Given the description of an element on the screen output the (x, y) to click on. 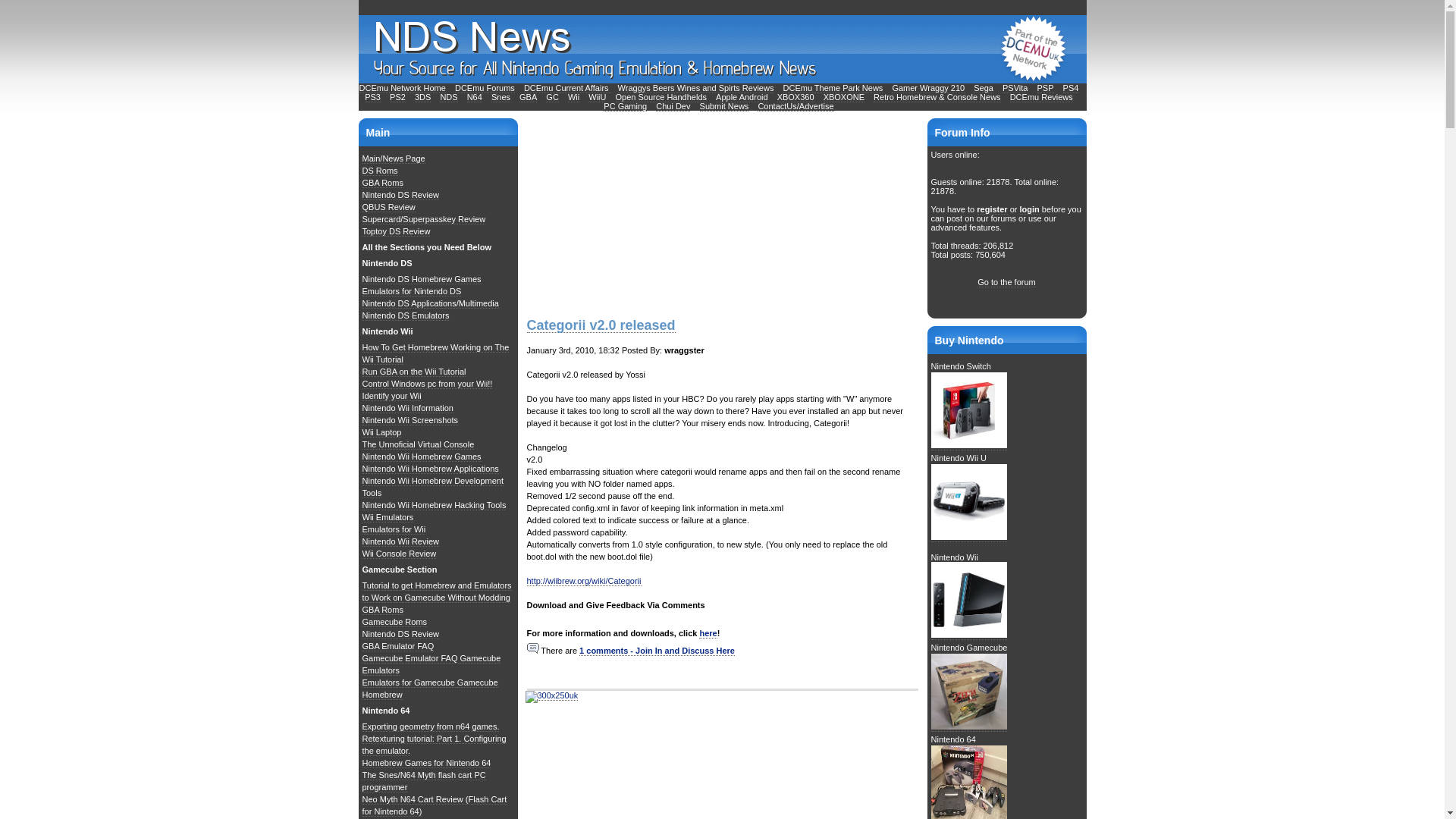
3DS (422, 97)
XBOX360 (795, 97)
Snes (501, 97)
Nintendo DS Review (400, 194)
XBOXONE (844, 97)
Apple Android (742, 97)
PSVita (1015, 88)
NDS (448, 97)
DS Roms (379, 171)
DCEmu Current Affairs (567, 88)
Open Source Handhelds (660, 97)
Advertisement (638, 212)
PSP (1045, 88)
Wii (573, 97)
Chui Dev (673, 106)
